Given the description of an element on the screen output the (x, y) to click on. 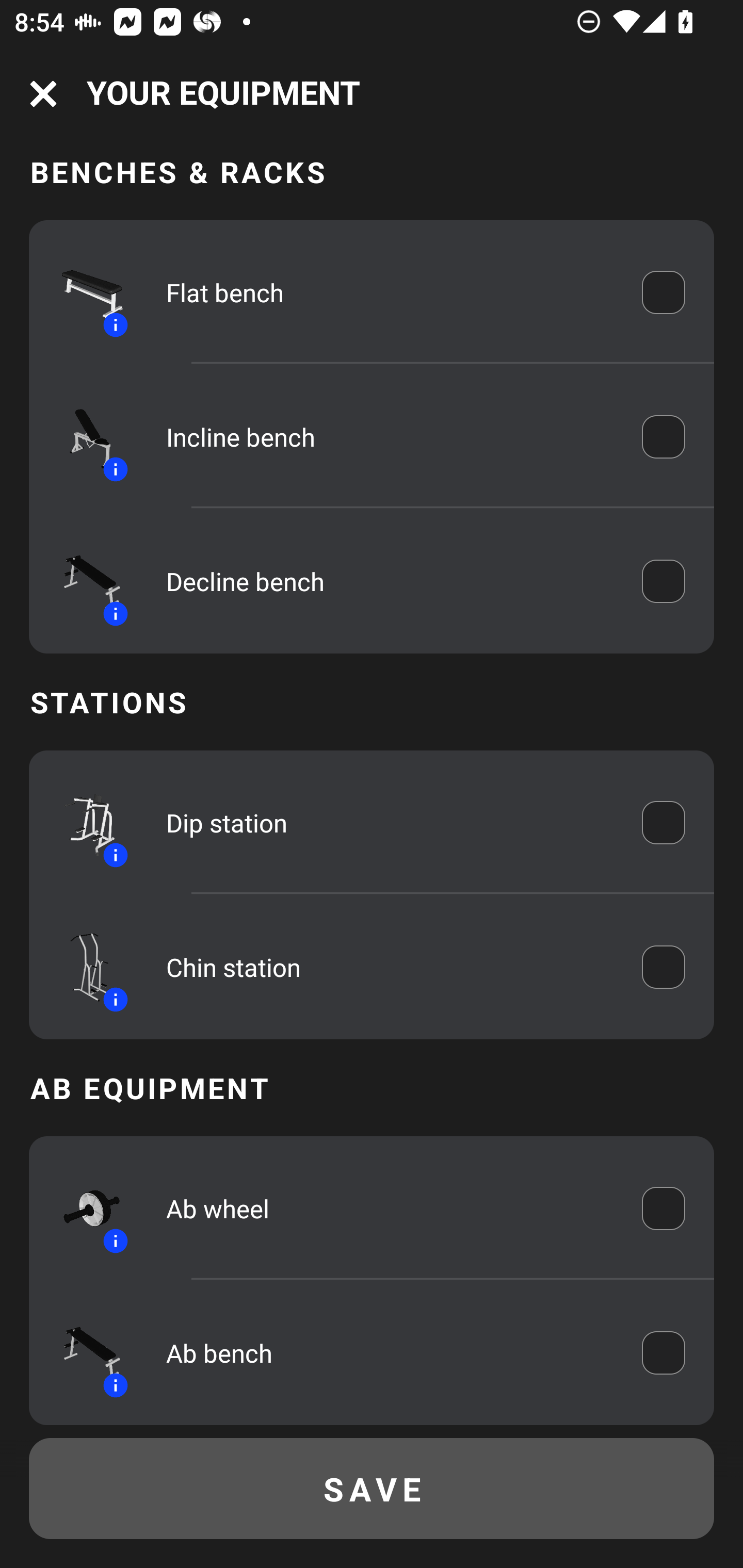
Navigation icon (43, 93)
Equipment icon Information icon (82, 292)
Flat bench (389, 292)
Equipment icon Information icon (82, 436)
Incline bench (389, 436)
Equipment icon Information icon (82, 580)
Decline bench (389, 580)
Equipment icon Information icon (82, 822)
Dip station (389, 822)
Equipment icon Information icon (82, 966)
Chin station (389, 966)
Equipment icon Information icon (82, 1208)
Ab wheel (389, 1208)
Equipment icon Information icon (82, 1352)
Ab bench (389, 1352)
SAVE (371, 1488)
